Given the description of an element on the screen output the (x, y) to click on. 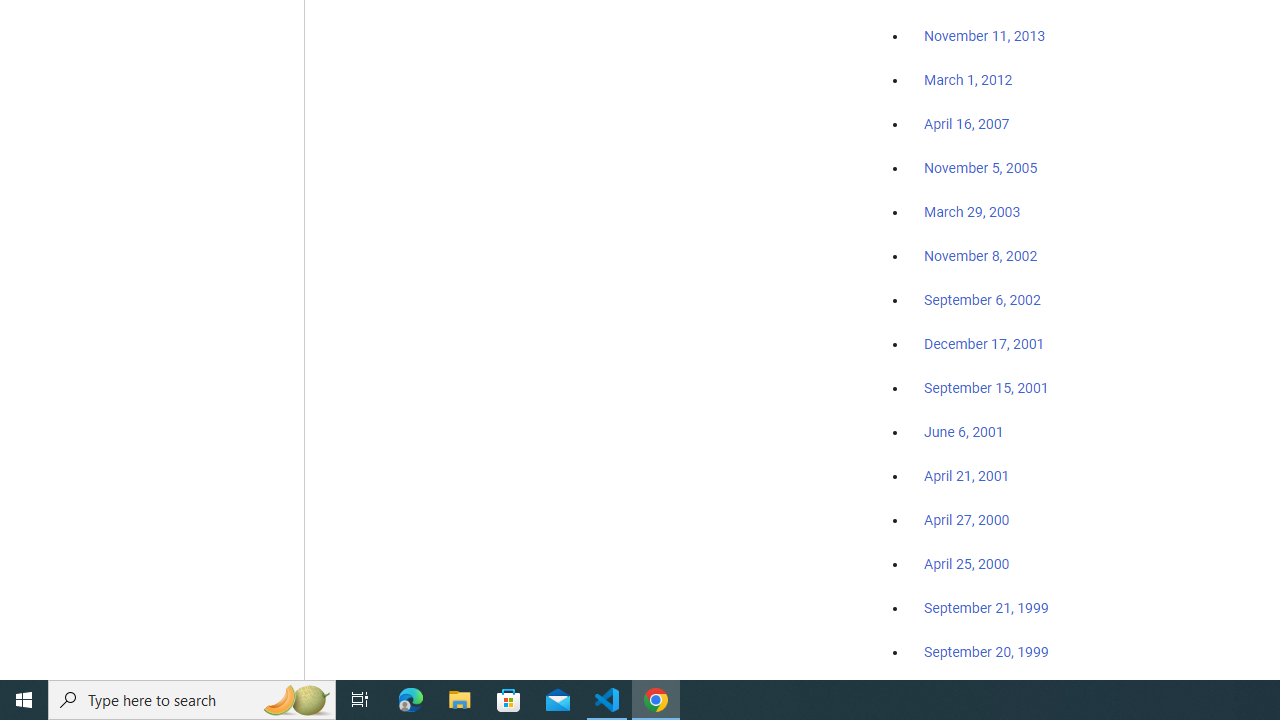
March 1, 2012 (968, 81)
November 8, 2002 (981, 255)
April 25, 2000 (966, 564)
November 11, 2013 (984, 37)
April 16, 2007 (966, 124)
March 29, 2003 (972, 212)
April 27, 2000 (966, 520)
June 6, 2001 (963, 431)
September 15, 2001 (986, 387)
April 21, 2001 (966, 476)
September 20, 1999 (986, 651)
September 6, 2002 (982, 299)
November 5, 2005 (981, 168)
September 21, 1999 (986, 608)
December 17, 2001 (984, 343)
